Given the description of an element on the screen output the (x, y) to click on. 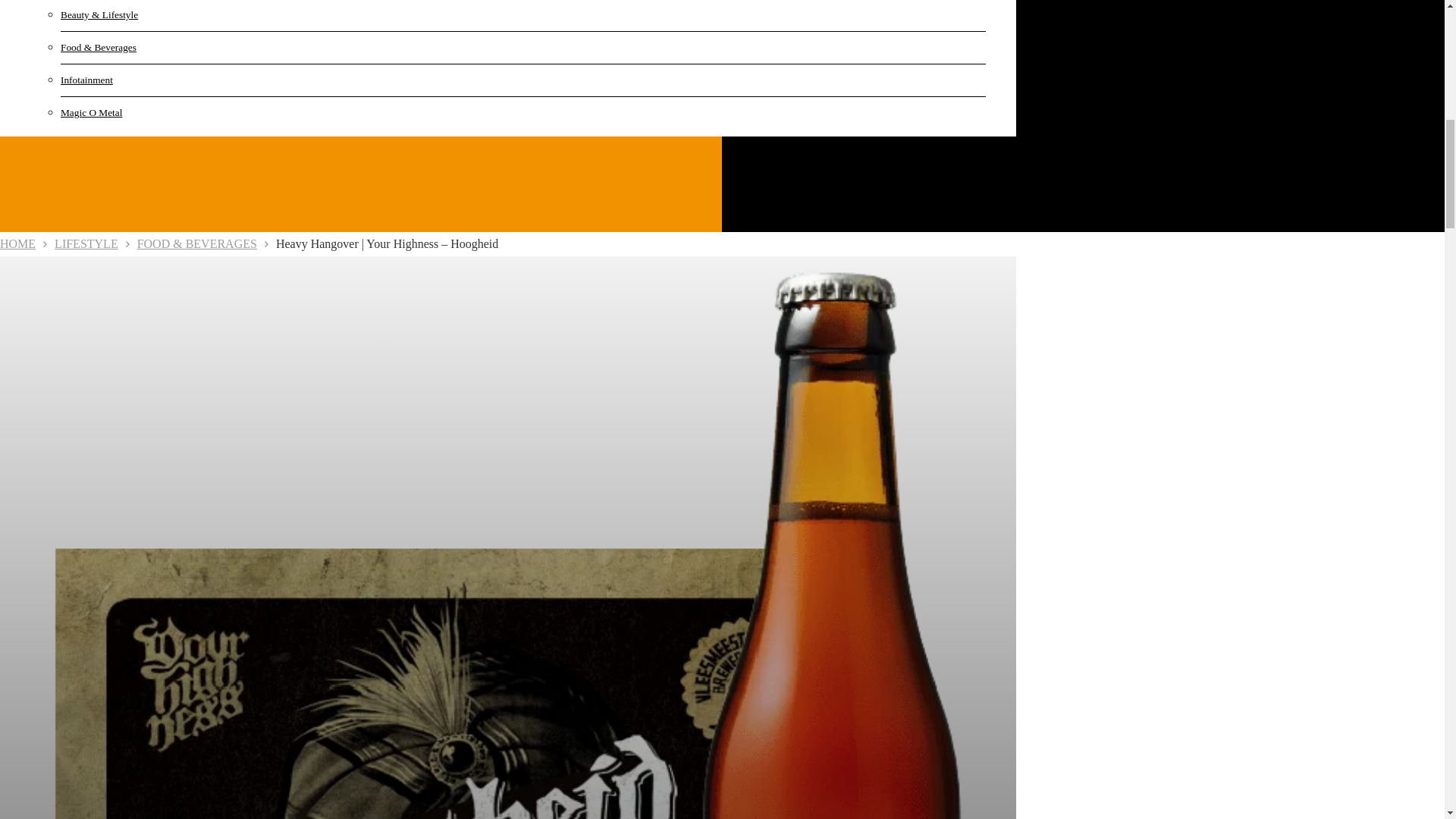
HOME (17, 243)
Infotainment (136, 80)
LIFESTYLE (86, 243)
Search (1275, 95)
Magic O Metal (136, 112)
